Given the description of an element on the screen output the (x, y) to click on. 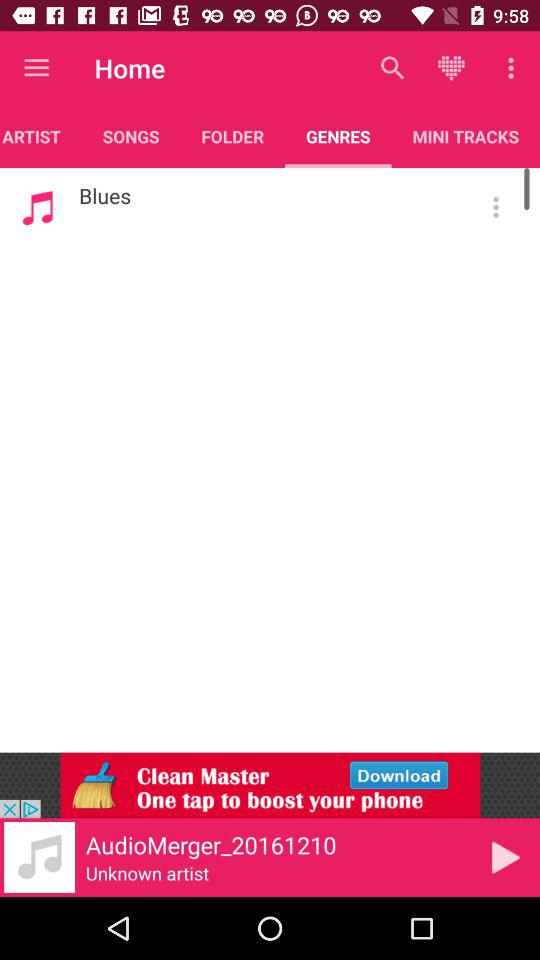
play this item (505, 857)
